Given the description of an element on the screen output the (x, y) to click on. 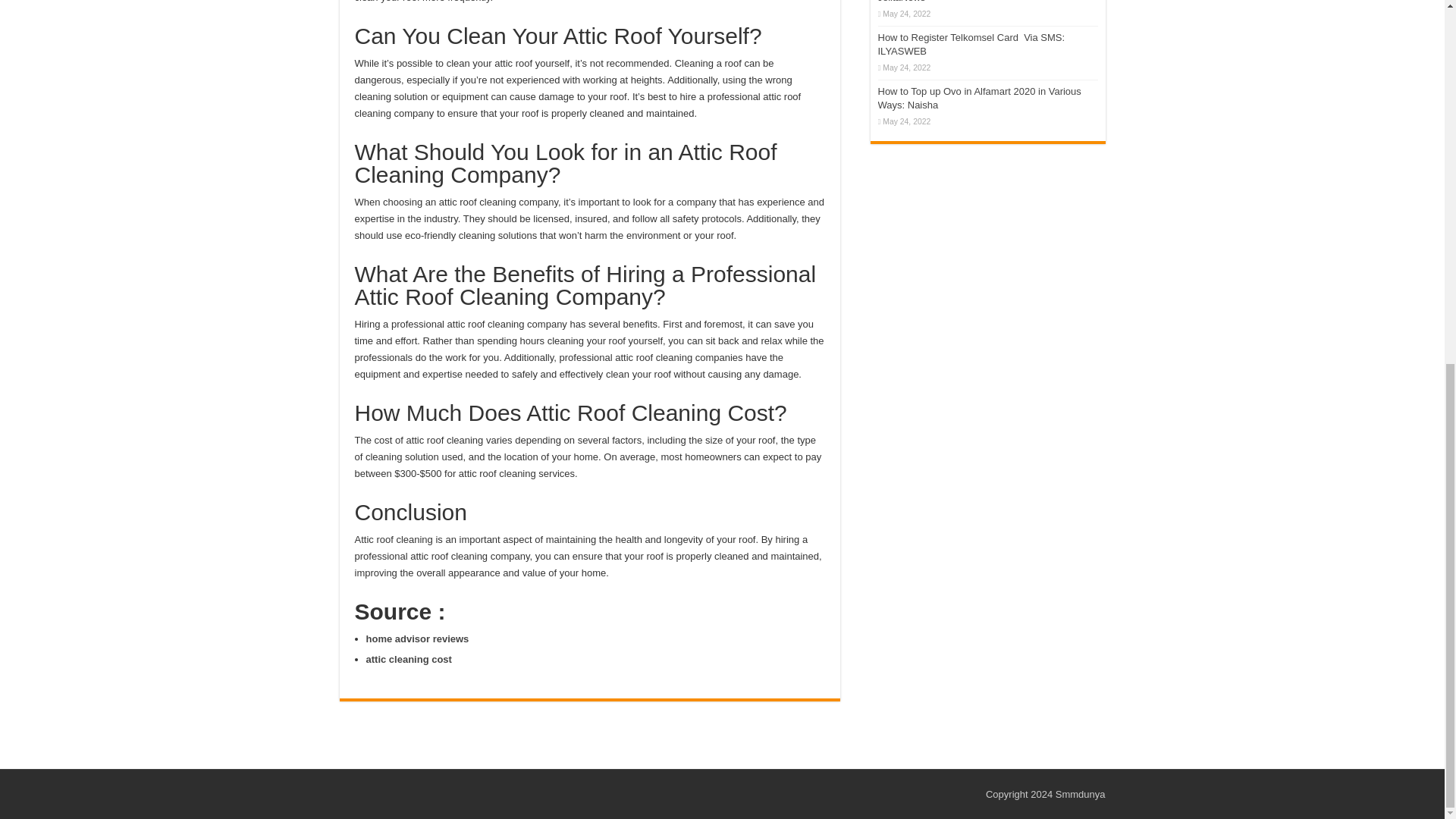
Smmdunya (1080, 794)
home advisor reviews (416, 638)
How to Top up Ovo in Alfamart 2020 in Various Ways: Naisha (979, 97)
How to Register Telkomsel Card  Via SMS: ILYASWEB (971, 43)
How To Extend The Next Online Passport: JelitaNews (969, 1)
attic cleaning cost (408, 659)
